Given the description of an element on the screen output the (x, y) to click on. 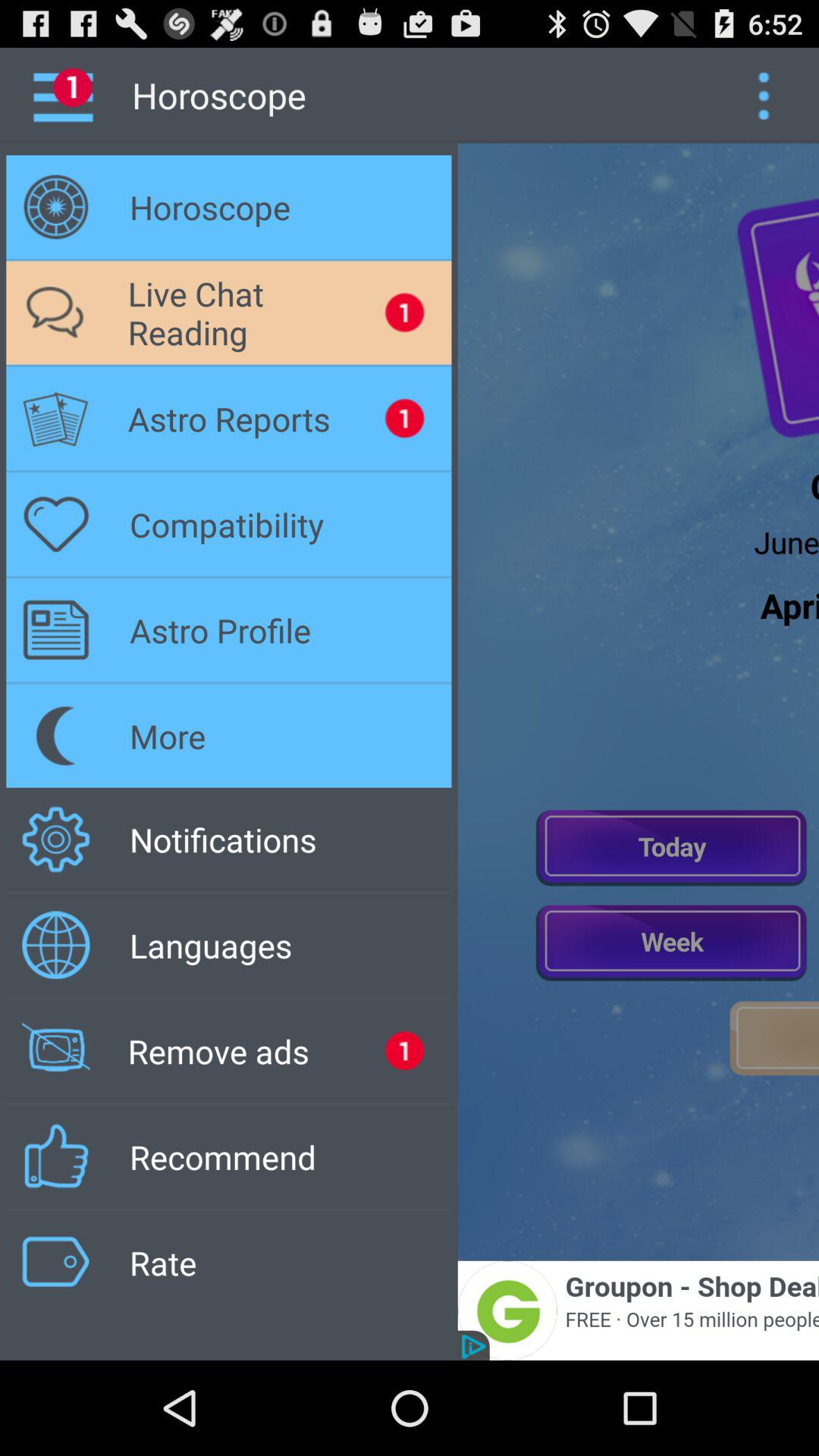
open options tab (763, 95)
